Given the description of an element on the screen output the (x, y) to click on. 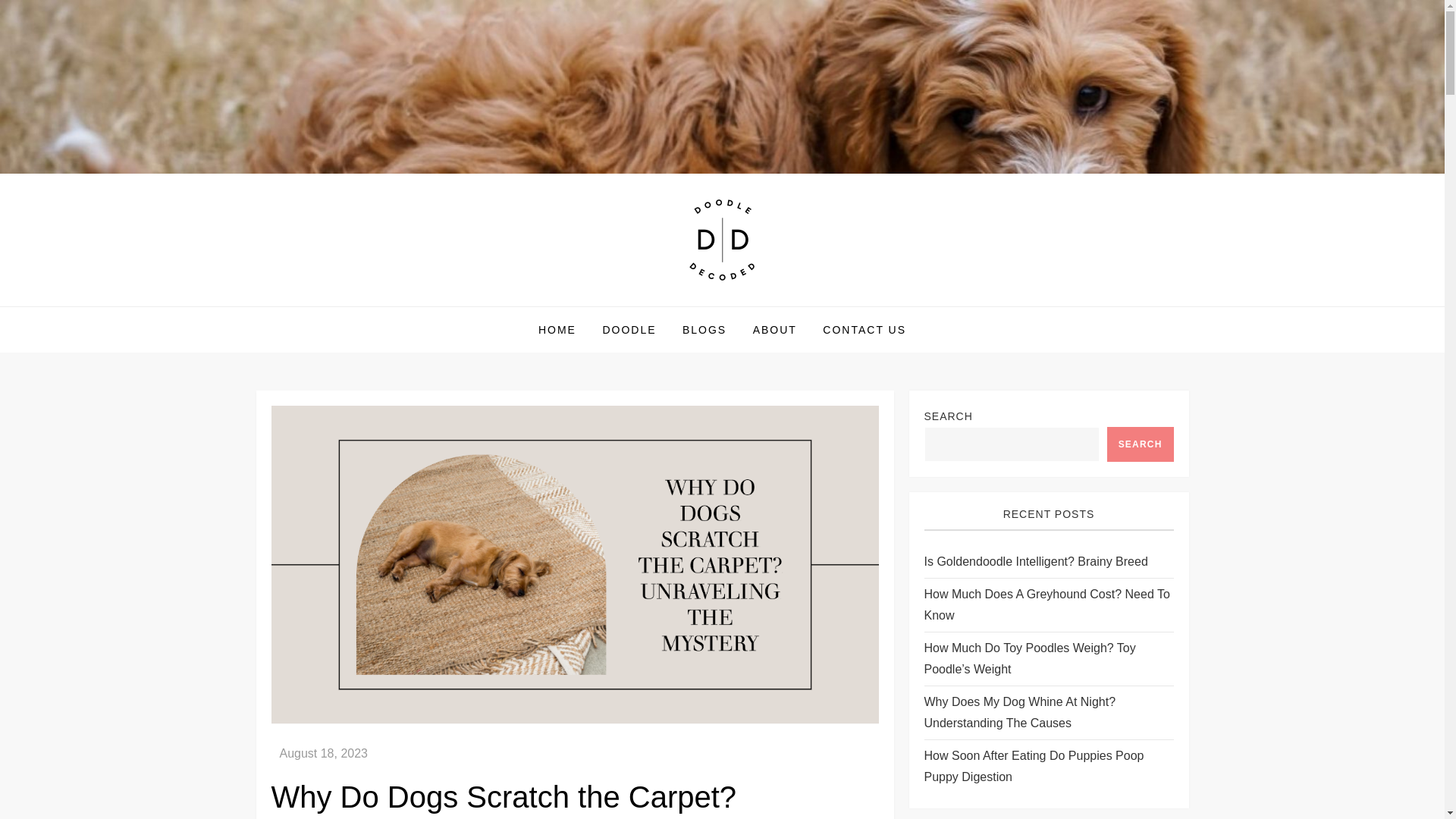
BLOGS (704, 329)
Doodle Decoded (368, 305)
HOME (557, 329)
CONTACT US (863, 329)
ABOUT (774, 329)
DOODLE (628, 329)
August 18, 2023 (323, 753)
